Given the description of an element on the screen output the (x, y) to click on. 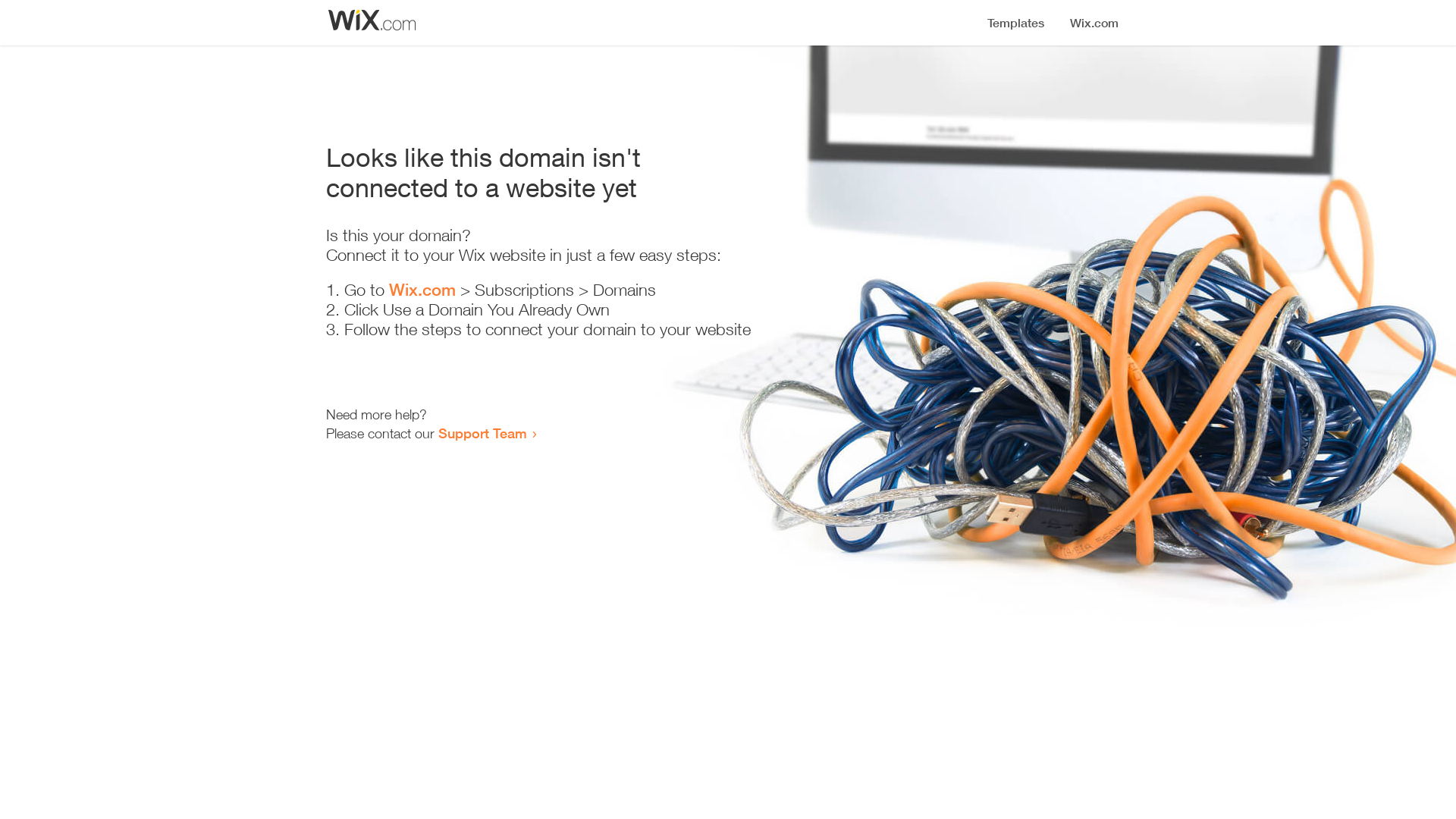
Support Team Element type: text (482, 432)
Wix.com Element type: text (422, 289)
